Given the description of an element on the screen output the (x, y) to click on. 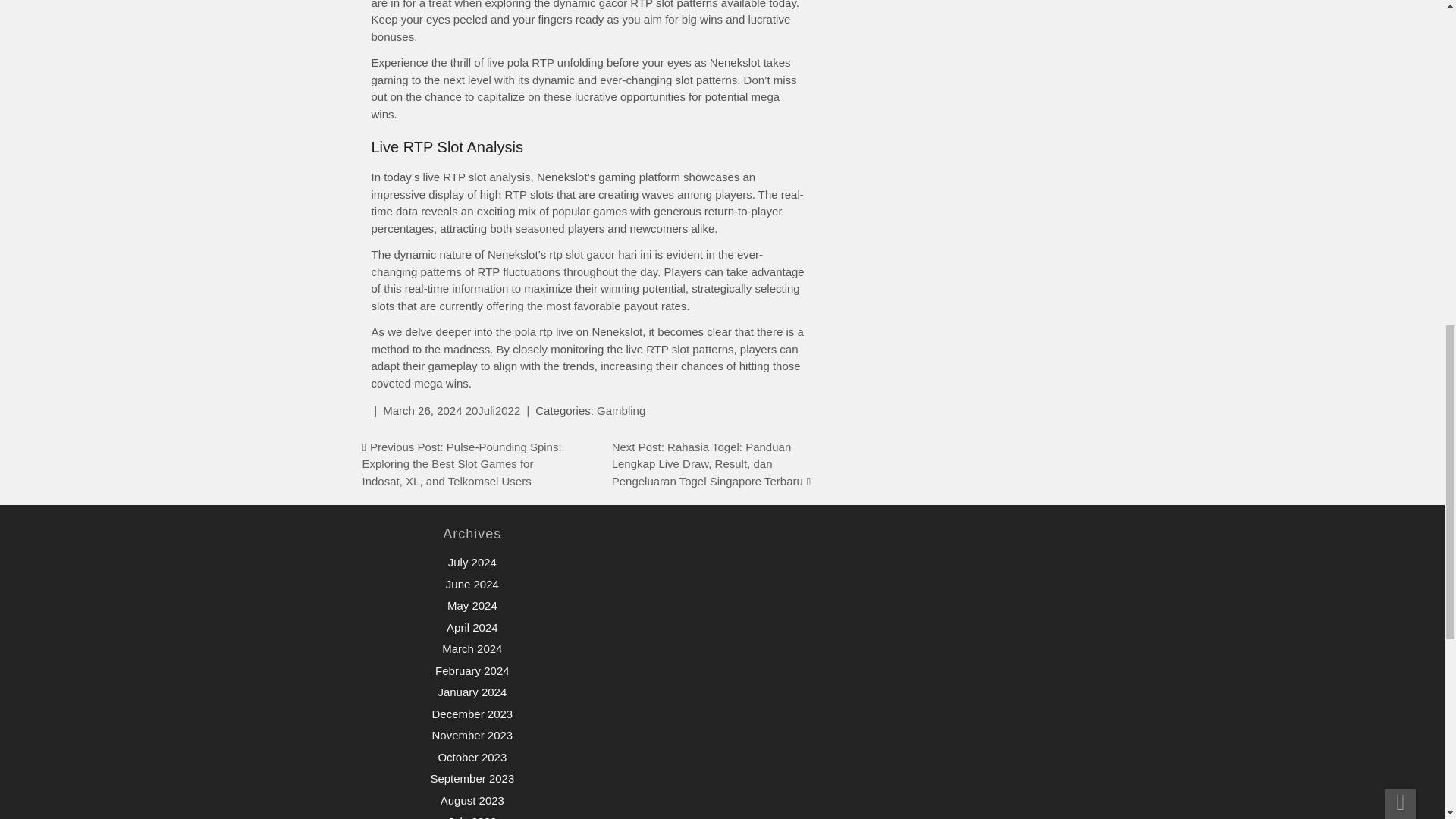
Posts by 20Juli2022 (493, 410)
May 2024 (471, 604)
June 2024 (472, 584)
Gambling (620, 410)
March 2024 (472, 648)
February 2024 (472, 670)
October 2023 (472, 757)
20Juli2022 (493, 410)
July 2023 (472, 816)
November 2023 (471, 735)
April 2024 (471, 626)
July 2024 (472, 562)
December 2023 (471, 713)
